Given the description of an element on the screen output the (x, y) to click on. 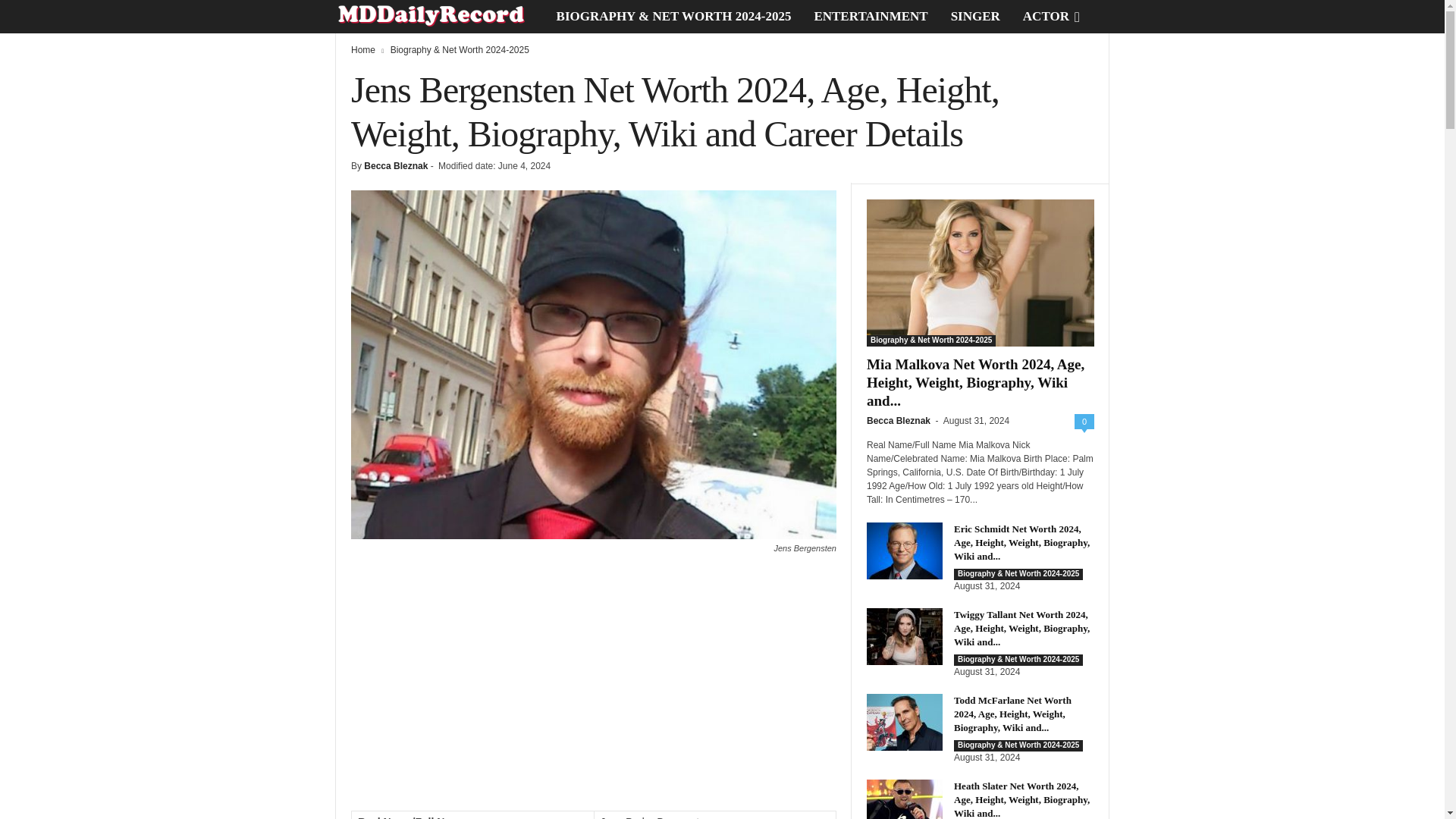
ACTOR (1045, 16)
Advertisement (592, 689)
Becca Bleznak (396, 165)
MD Daily Record (439, 16)
SINGER (975, 16)
Home (362, 50)
ENTERTAINMENT (870, 16)
